Given the description of an element on the screen output the (x, y) to click on. 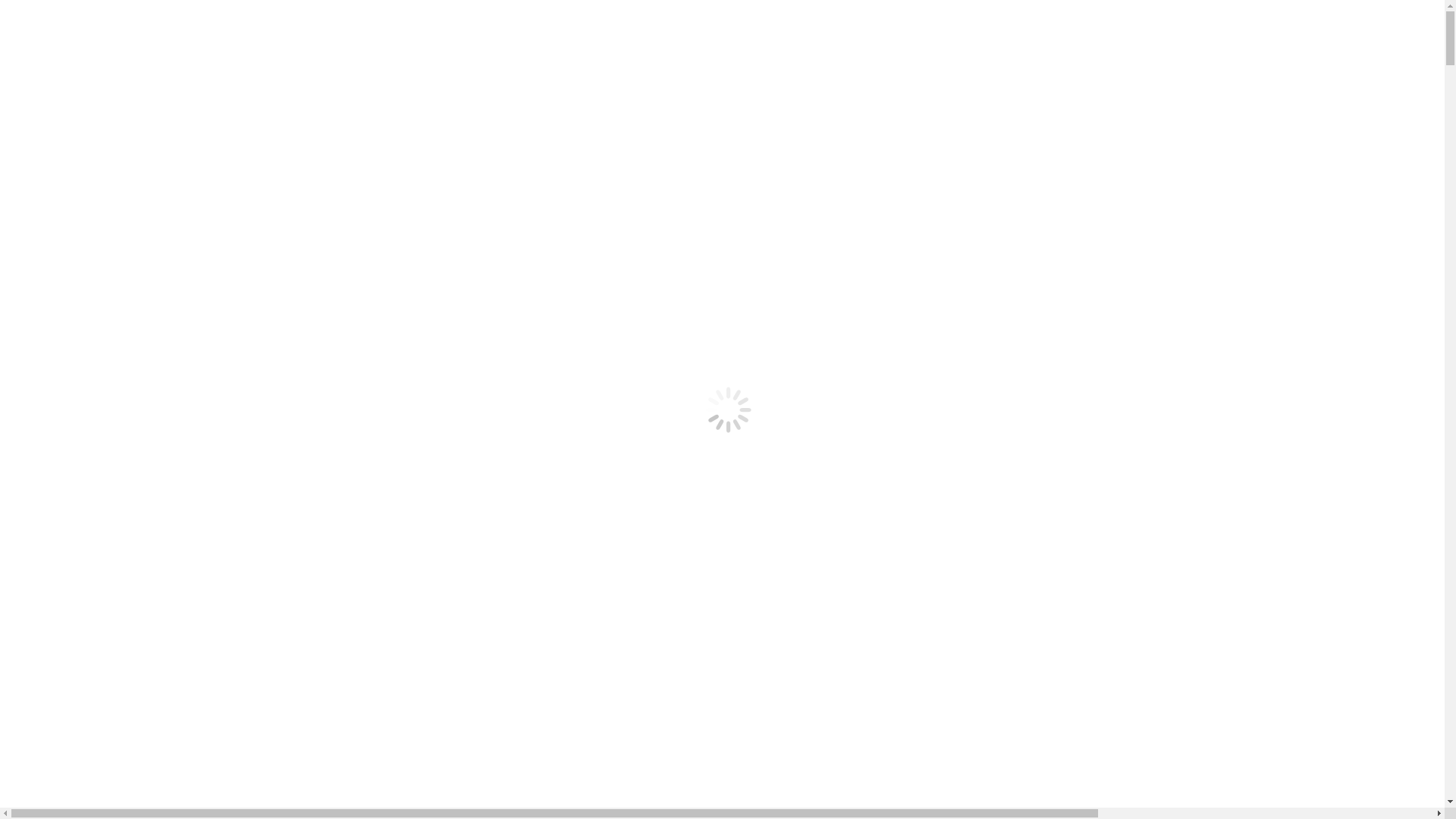
EXPERTISE Element type: text (67, 227)
WORK Element type: text (54, 268)
PROCESS Element type: text (62, 213)
HOME Element type: text (54, 200)
BLOG Element type: text (52, 160)
CLIENTS Element type: text (61, 241)
BLOG Element type: text (52, 282)
CONTACT Element type: text (64, 295)
ABOUT Element type: text (57, 133)
WORK Element type: text (54, 147)
PROCESS Element type: text (62, 92)
Skip to content Element type: text (42, 12)
HOME Element type: text (54, 78)
EXPERTISE Element type: text (67, 106)
ABOUT Element type: text (57, 254)
CLIENTS Element type: text (61, 119)
CONTACT Element type: text (64, 174)
